Given the description of an element on the screen output the (x, y) to click on. 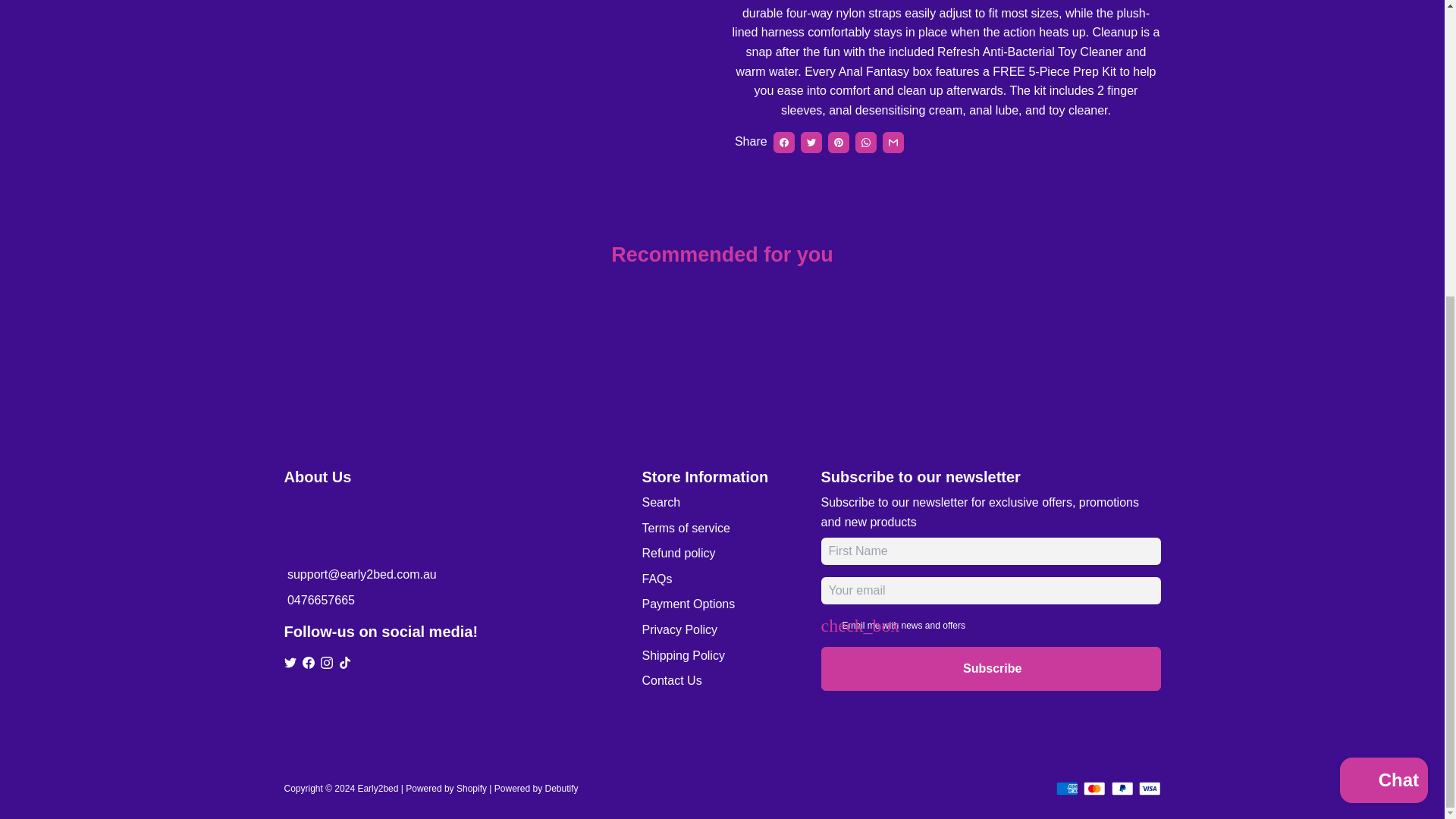
Mastercard (1094, 788)
PayPal (1122, 788)
Visa (1149, 788)
American Express (1066, 788)
